Given the description of an element on the screen output the (x, y) to click on. 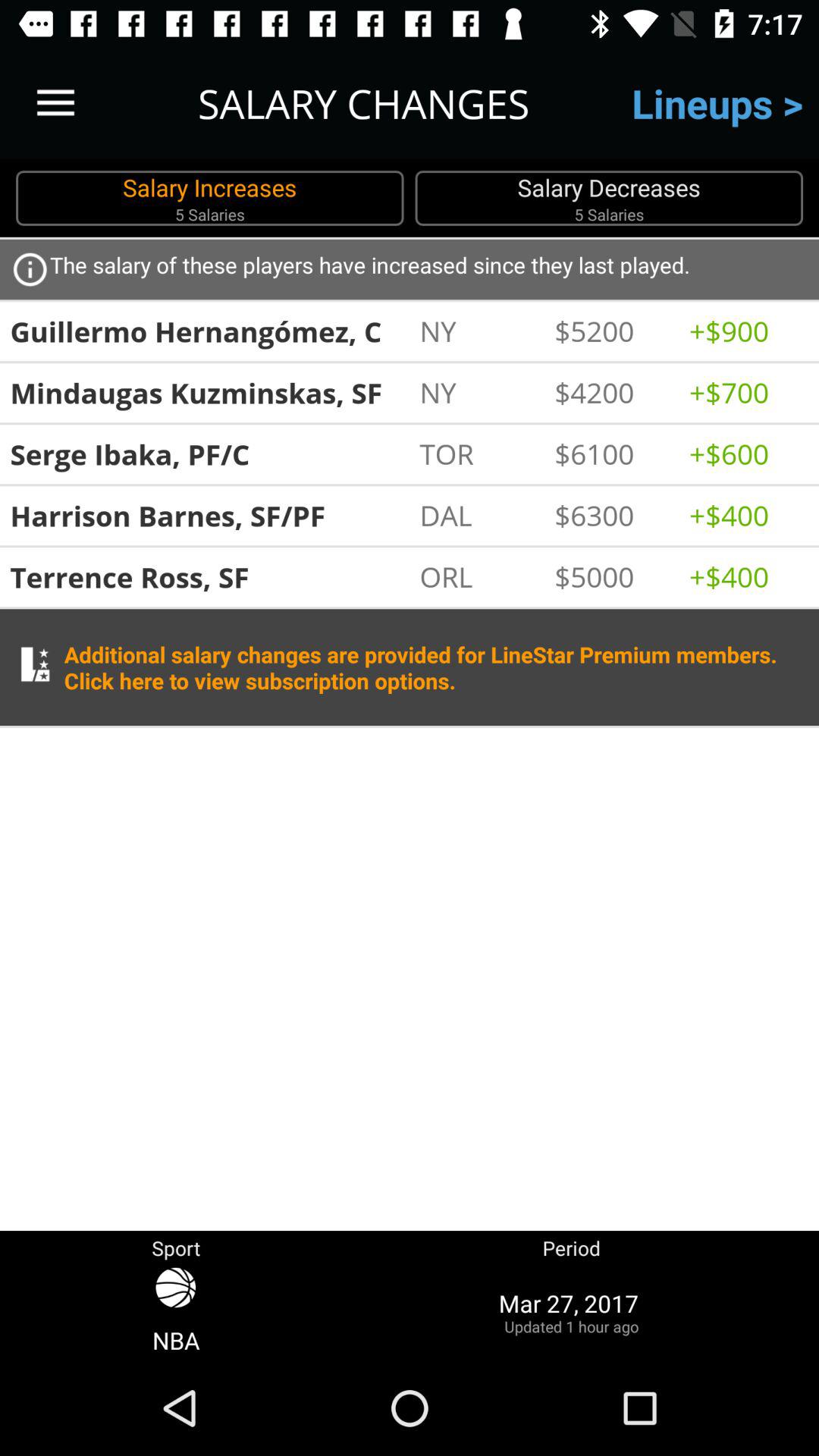
click item below sport (175, 1311)
